Given the description of an element on the screen output the (x, y) to click on. 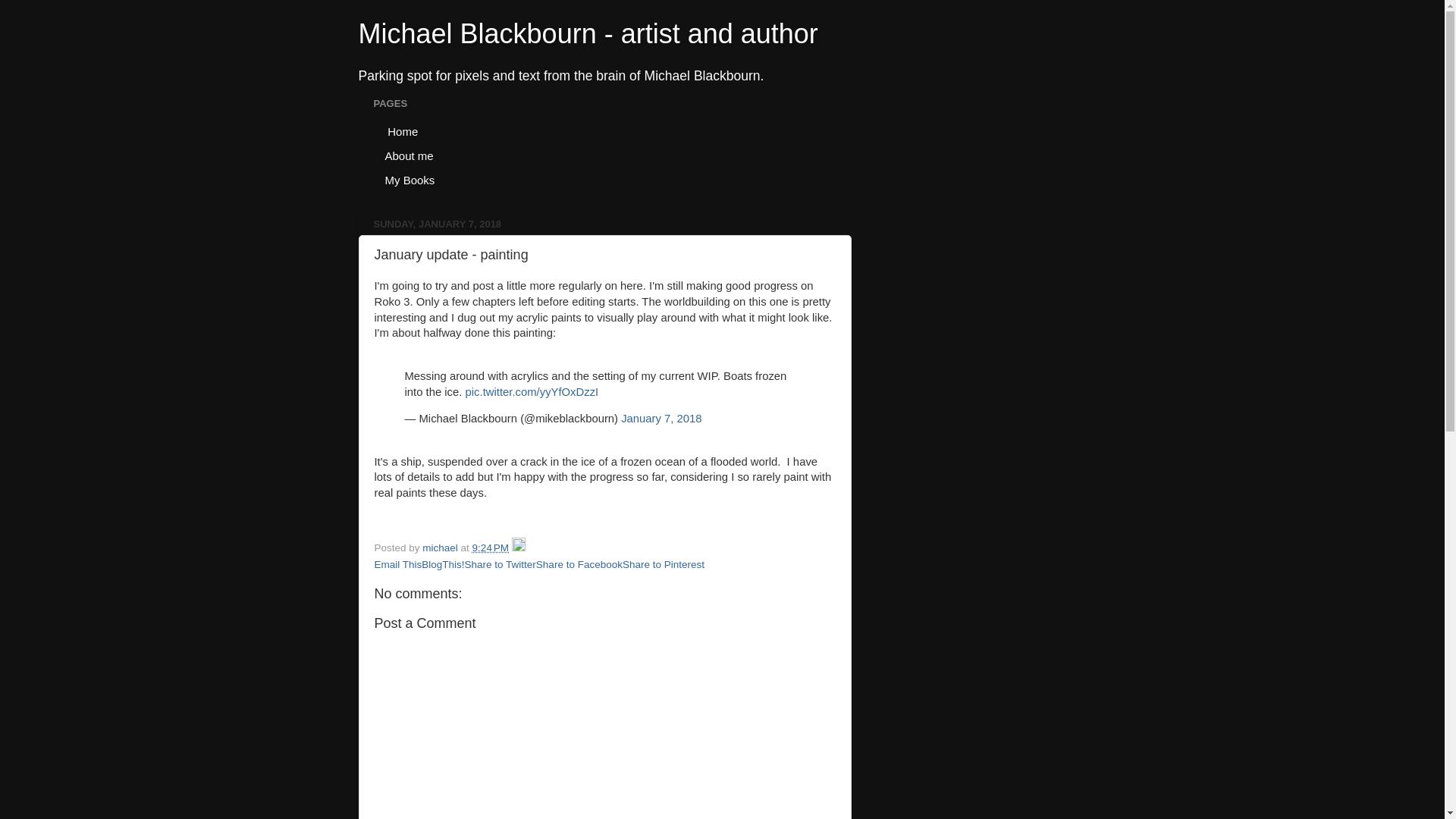
Share to Twitter (499, 564)
Email This (398, 564)
author profile (441, 547)
Share to Pinterest (663, 564)
permanent link (489, 547)
Share to Pinterest (663, 564)
Share to Twitter (499, 564)
Michael Blackbourn - artist and author (587, 33)
Edit Post (518, 547)
